Given the description of an element on the screen output the (x, y) to click on. 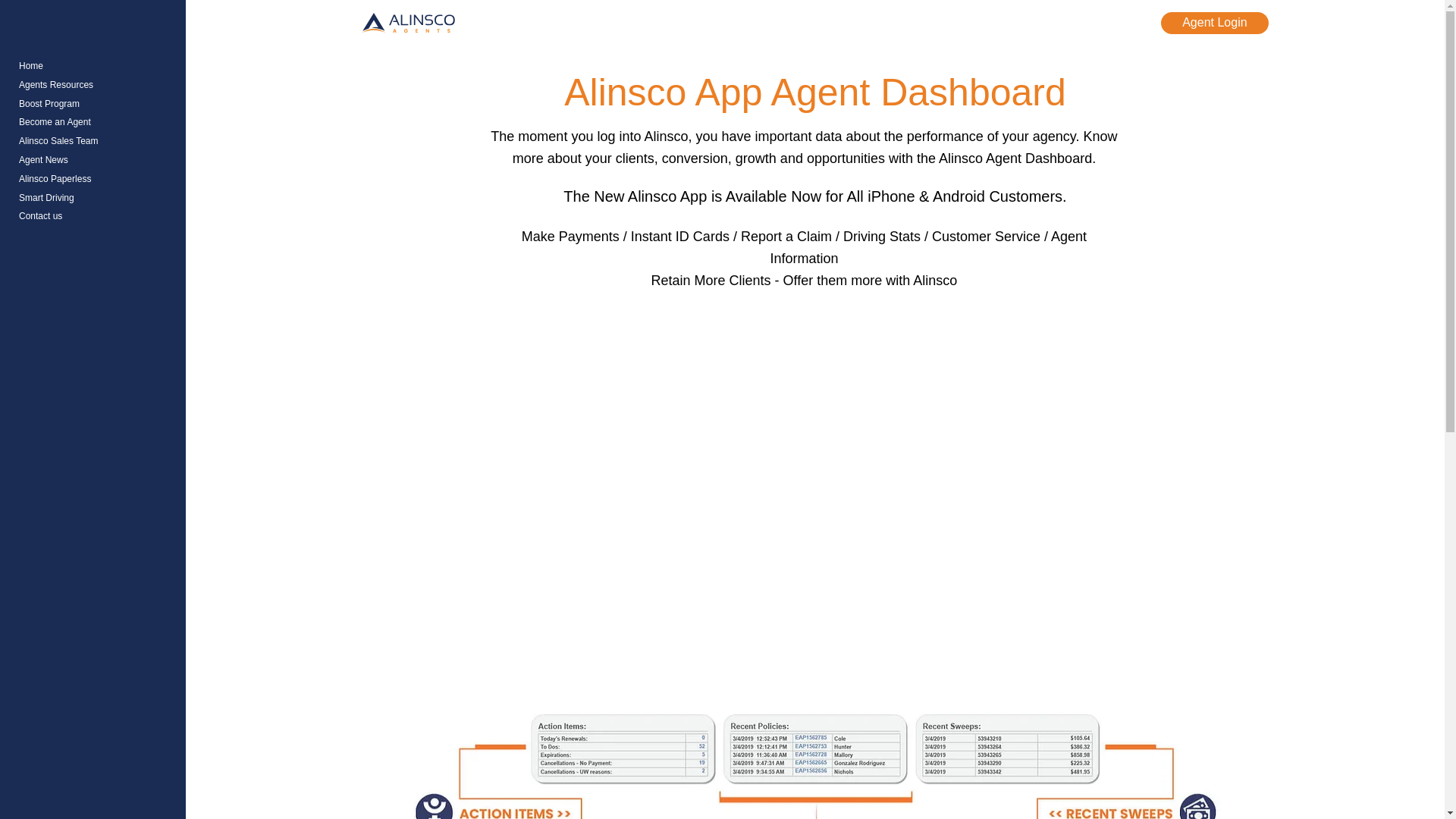
Boost Program (96, 104)
Agent News (96, 159)
Agent Login (1214, 23)
Alinsco Paperless (96, 179)
Home (96, 66)
Smart Driving (96, 198)
Agents Resources (96, 85)
Contact us (96, 216)
Alinsco Sales Team (96, 140)
Become an Agent (96, 122)
